Given the description of an element on the screen output the (x, y) to click on. 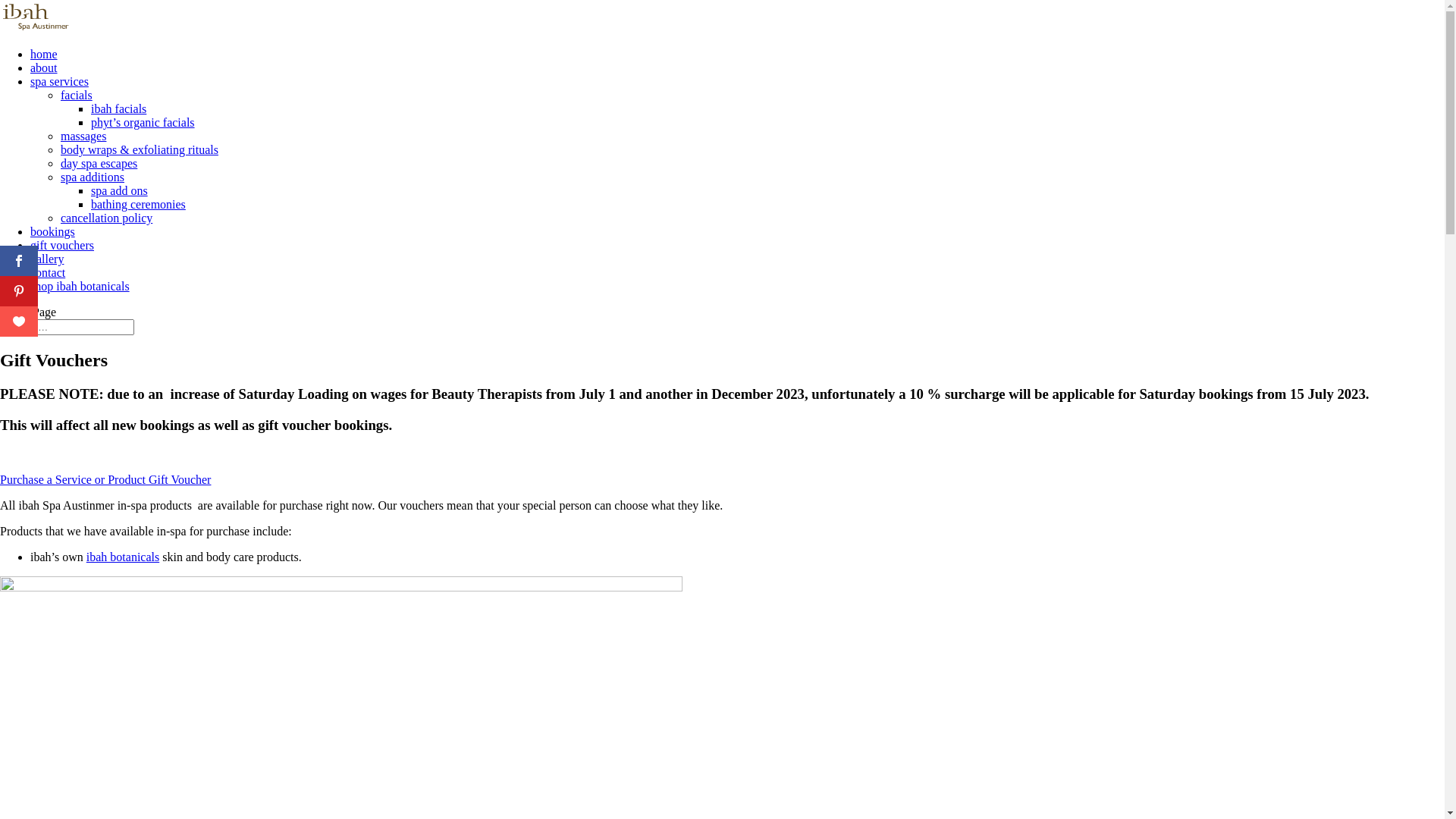
day spa escapes Element type: text (98, 162)
facials Element type: text (76, 94)
bathing ceremonies Element type: text (138, 203)
contact Element type: text (47, 272)
spa additions Element type: text (92, 176)
spa add ons Element type: text (119, 190)
Search for: Element type: hover (67, 327)
ibah botanicals Element type: text (122, 556)
gallery Element type: text (46, 258)
gift vouchers Element type: text (62, 244)
Purchase a Service or Product Gift Voucher Element type: text (105, 479)
ibah facials Element type: text (118, 108)
spa services Element type: text (59, 81)
cancellation policy Element type: text (106, 217)
body wraps & exfoliating rituals Element type: text (139, 149)
home Element type: text (43, 53)
massages Element type: text (83, 135)
about Element type: text (43, 67)
bookings Element type: text (52, 231)
shop ibah botanicals Element type: text (79, 285)
